Given the description of an element on the screen output the (x, y) to click on. 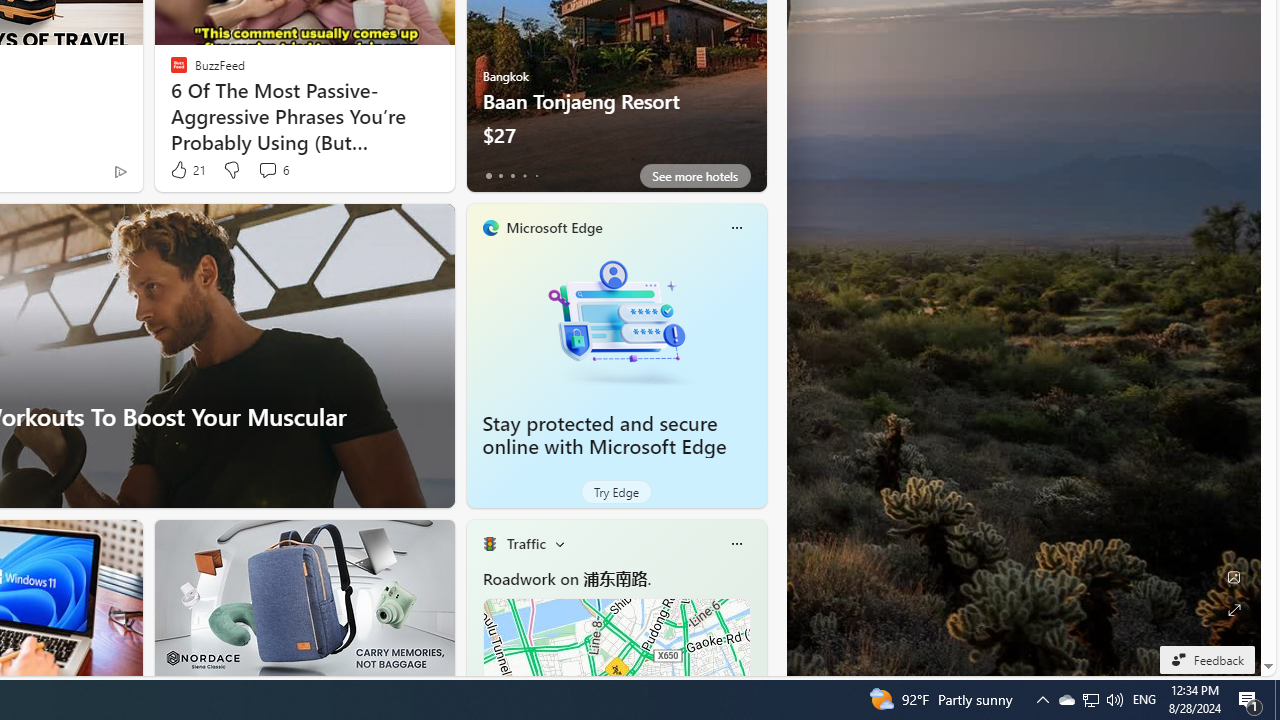
Change scenarios (559, 543)
tab-0 (488, 175)
Traffic (525, 543)
Edit Background (1233, 577)
tab-1 (500, 175)
